Given the description of an element on the screen output the (x, y) to click on. 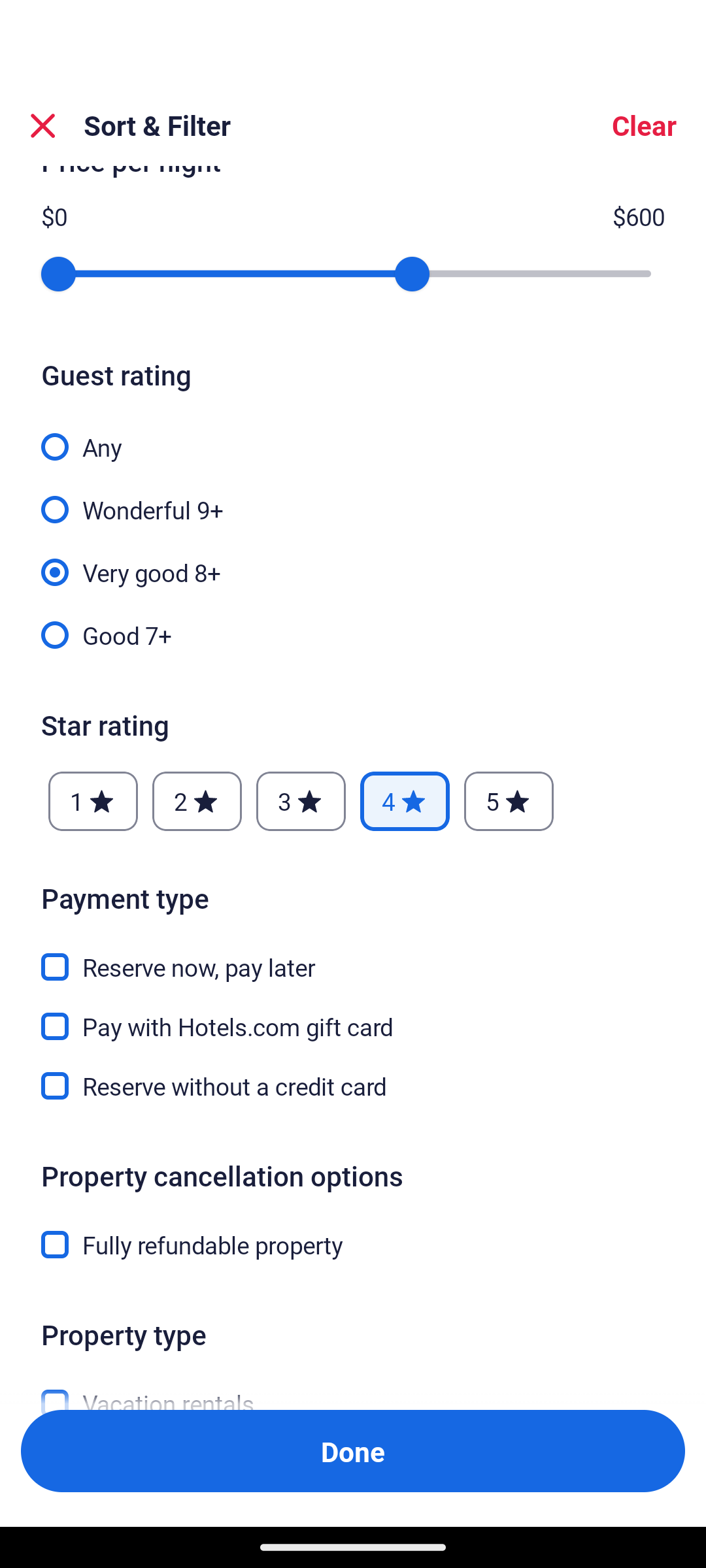
Clear (643, 125)
Close Sort and Filter (43, 125)
Any (352, 435)
Wonderful 9+ (352, 498)
Good 7+ (352, 633)
1 (92, 801)
2 (197, 801)
3 (300, 801)
4 (404, 801)
5 (508, 801)
Reserve now, pay later, Reserve now, pay later (352, 956)
Apply and close Sort and Filter Done (352, 1450)
